Given the description of an element on the screen output the (x, y) to click on. 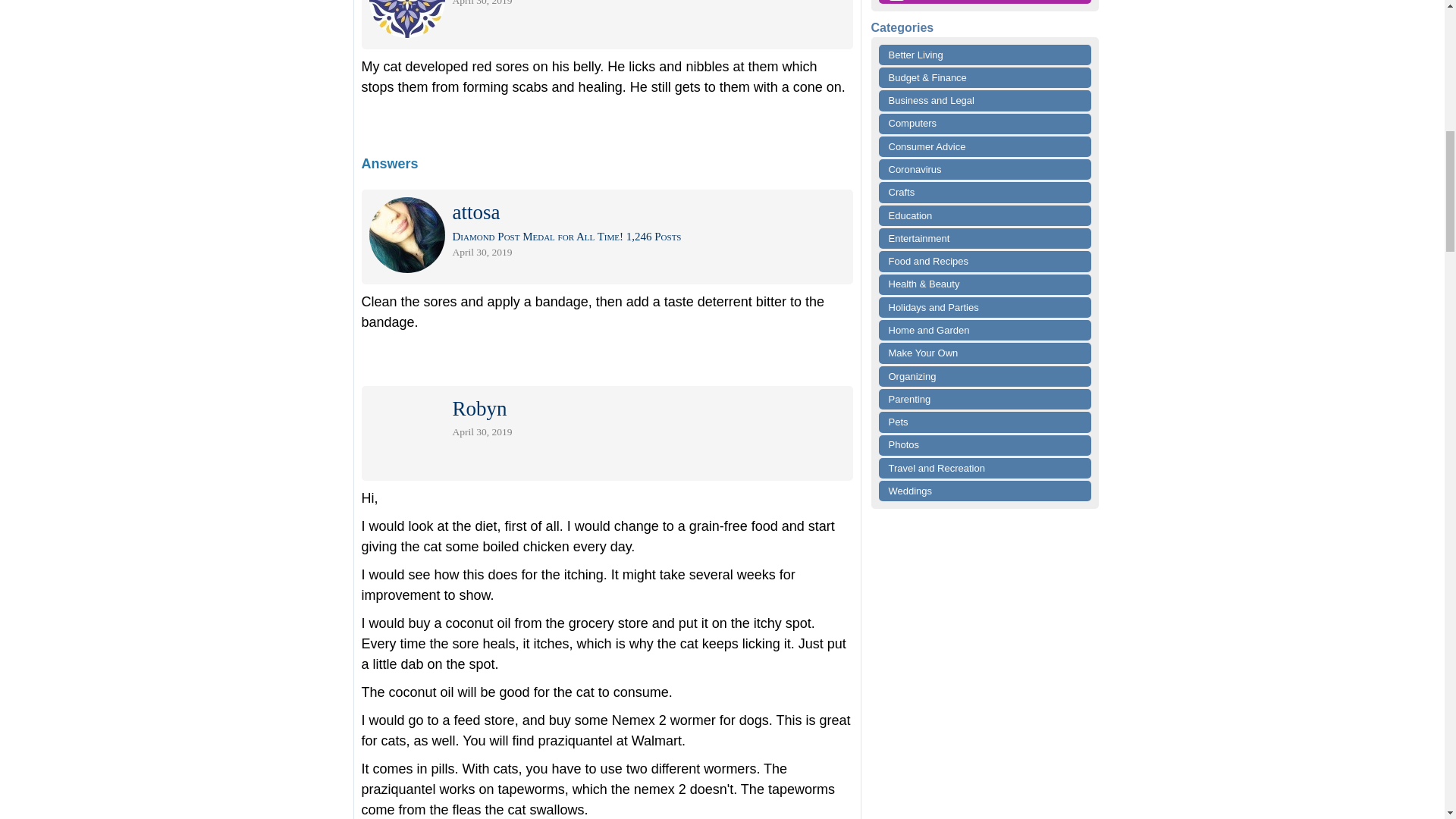
attosa (475, 215)
Robyn (478, 411)
